Given the description of an element on the screen output the (x, y) to click on. 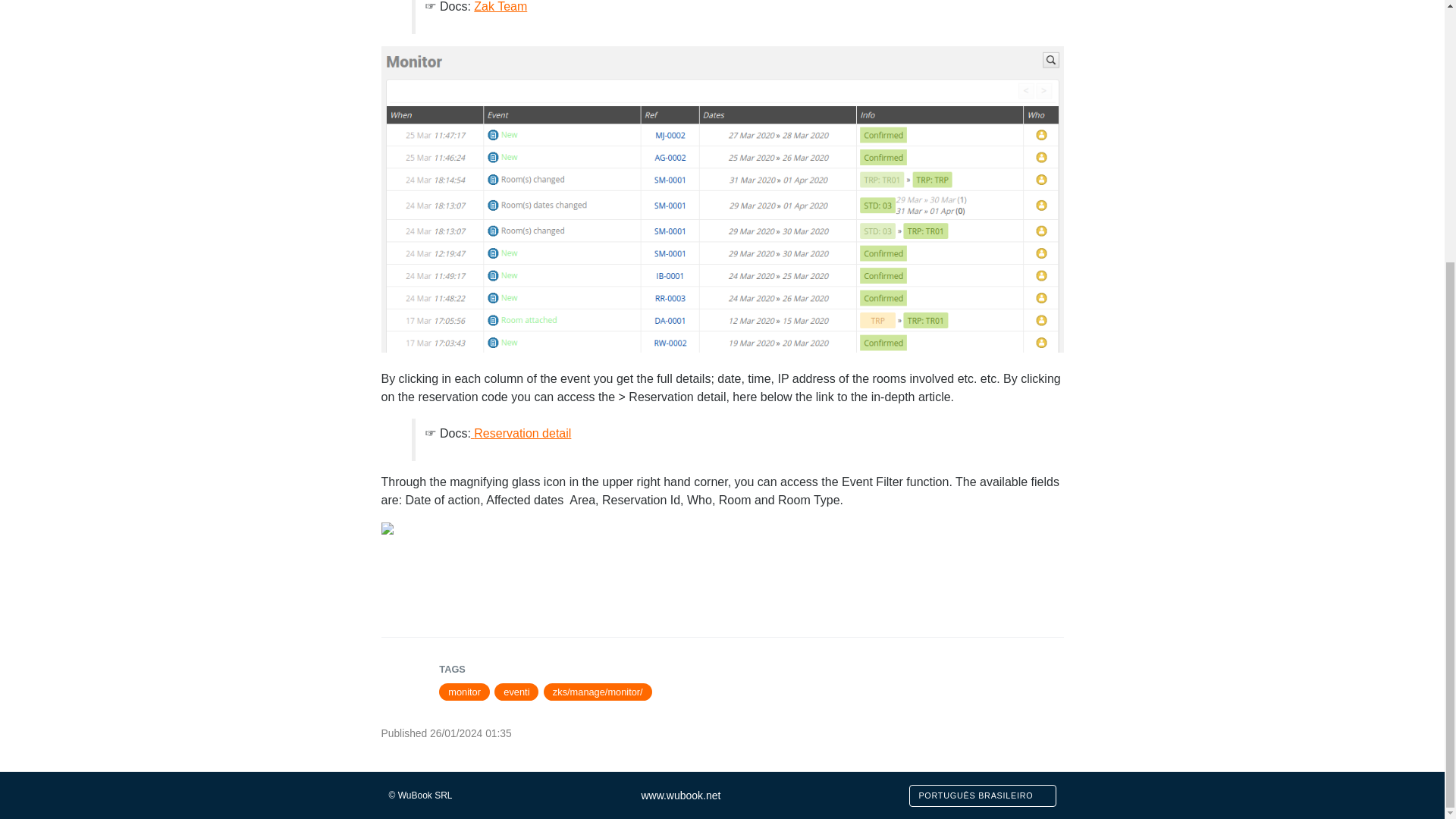
eventi (516, 691)
www.wubook.net (680, 795)
monitor (464, 691)
Zak Team (500, 6)
Reservation detail (522, 432)
